Given the description of an element on the screen output the (x, y) to click on. 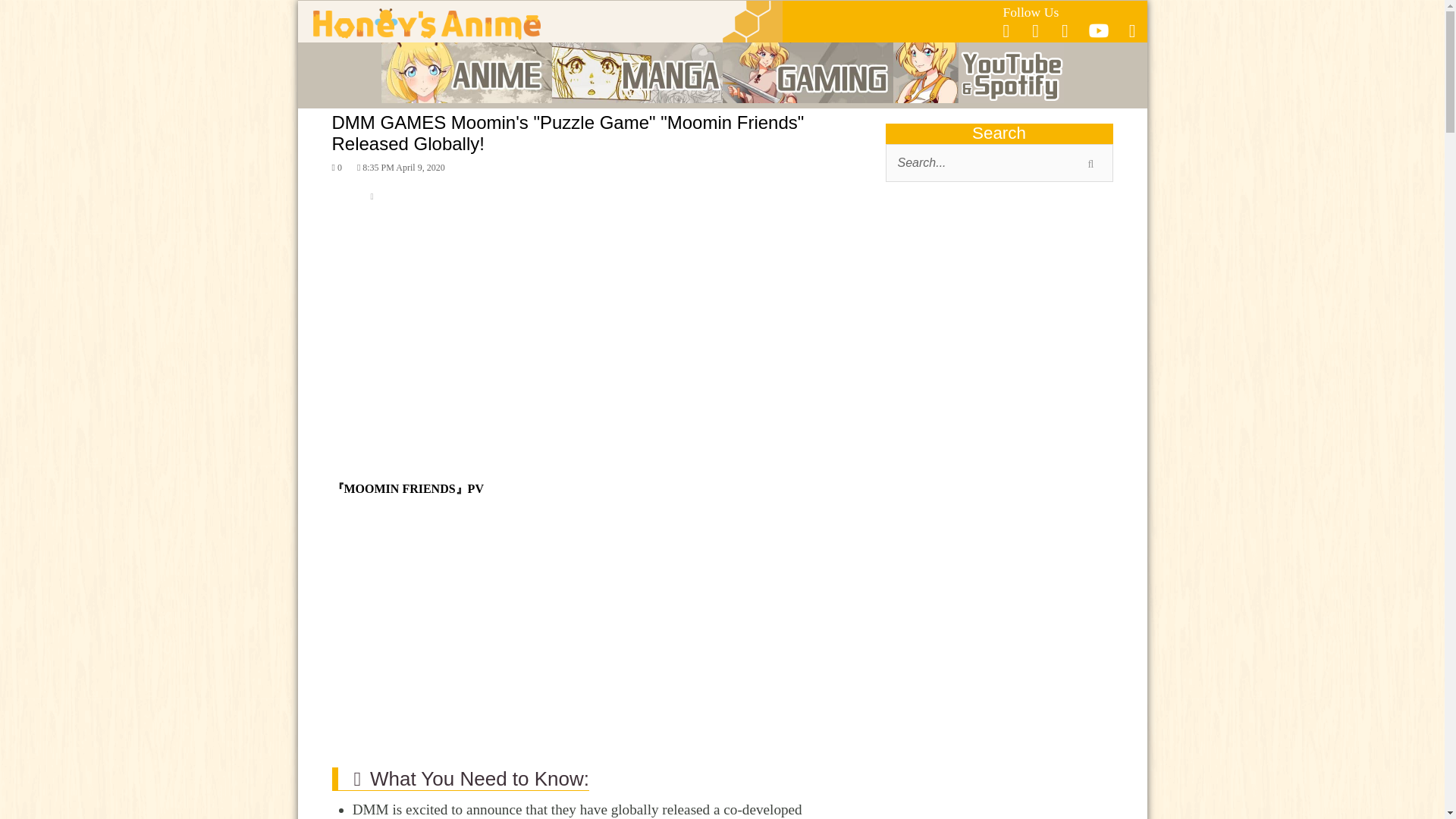
banner-honeyfeed-malcontest (999, 765)
Search... (999, 162)
Advertisement (999, 313)
Our Youtube (1098, 35)
Search... (999, 162)
